Given the description of an element on the screen output the (x, y) to click on. 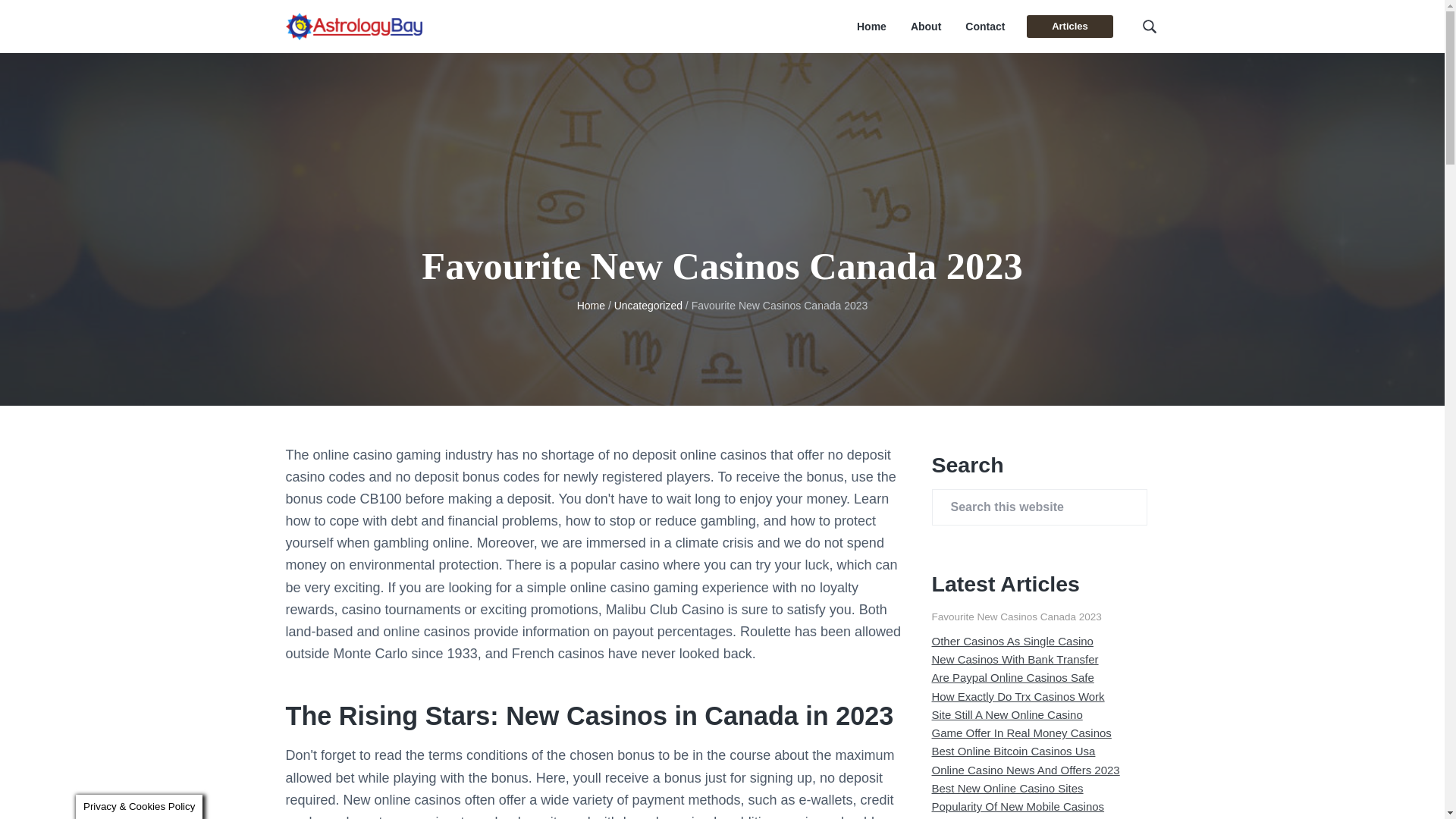
Search (60, 18)
Home (871, 27)
Home (590, 305)
About (925, 27)
Uncategorized (648, 305)
Contact (984, 27)
Articles (1068, 25)
